Given the description of an element on the screen output the (x, y) to click on. 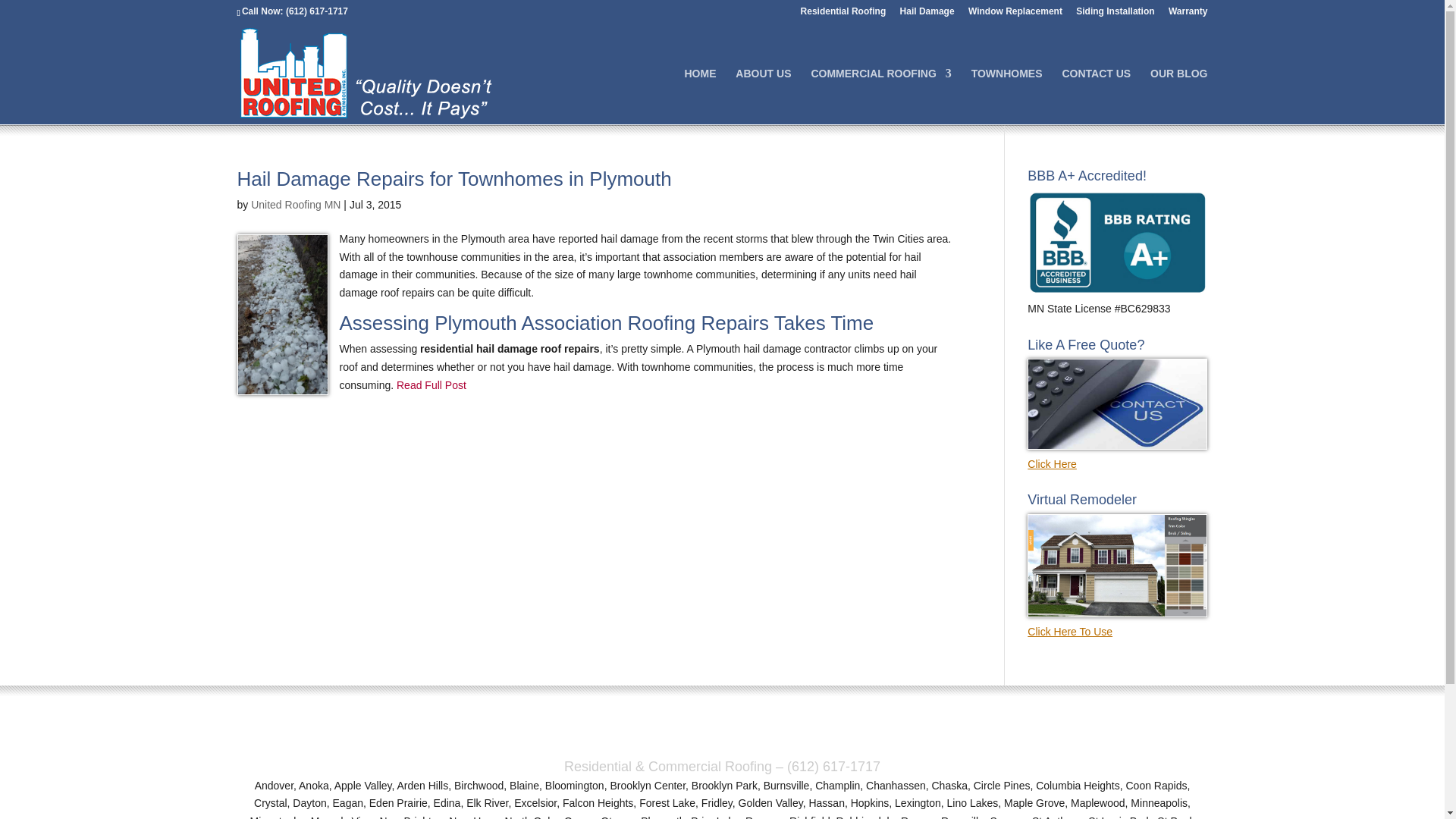
Hail Damage Repairs for Townhomes in Plymouth (453, 178)
Warranty (1188, 14)
Residential Roofing (843, 14)
Window Replacement (1015, 14)
CONTACT US (1096, 95)
Siding Installation (1114, 14)
Click Here (1117, 454)
COMMERCIAL ROOFING (880, 95)
Hail Damage (927, 14)
OUR BLOG (1178, 95)
